Given the description of an element on the screen output the (x, y) to click on. 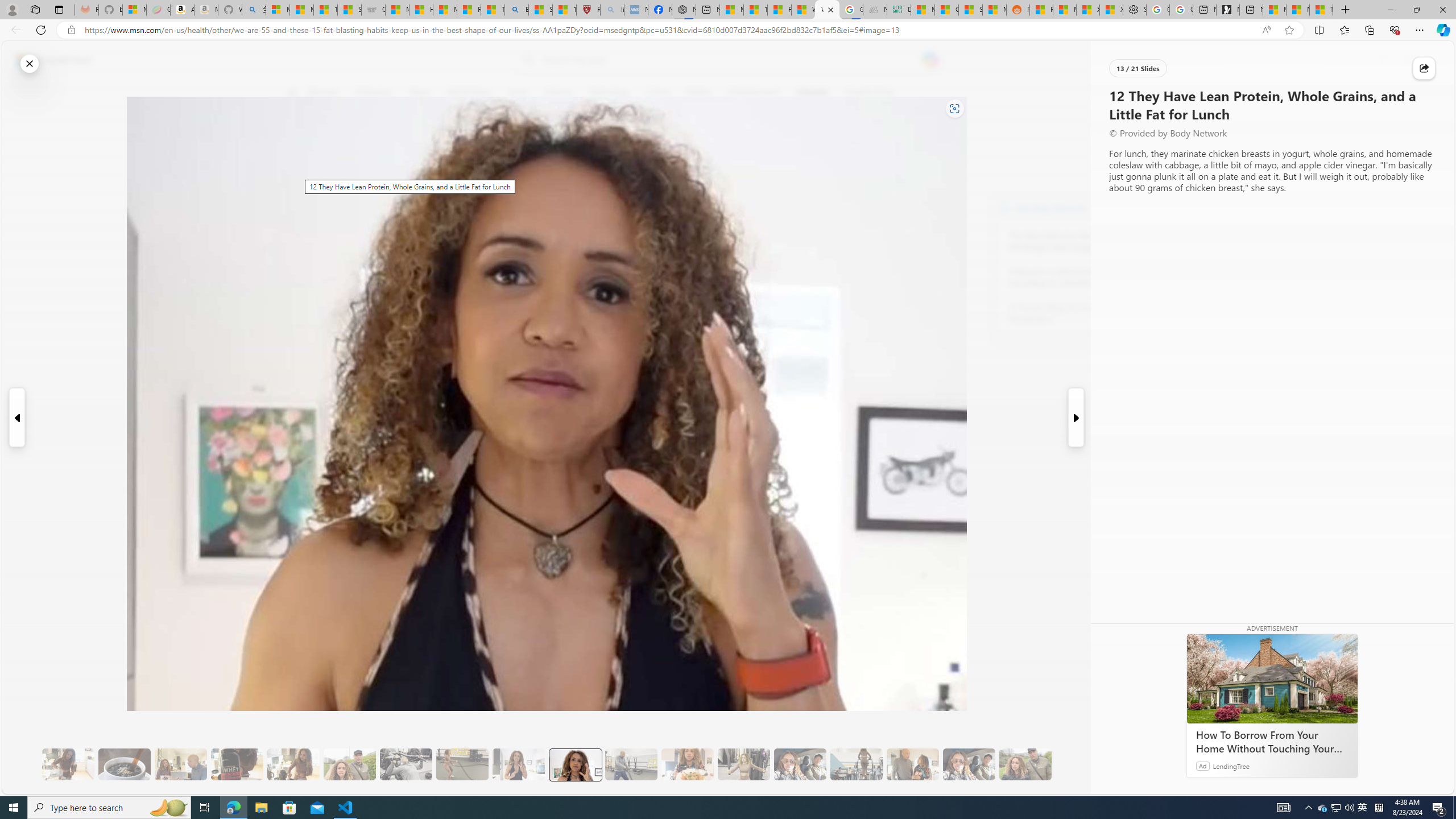
14 They Have Salmon and Veggies for Dinner (687, 764)
3 They Drink Lemon Tea (68, 764)
Technology (609, 92)
Class: at-item (299, 266)
14 Common Myths Debunked By Scientific Facts (754, 9)
Politics (697, 92)
6 Like (299, 138)
6 Since Eating More Protein Her Training Has Improved (237, 764)
